Given the description of an element on the screen output the (x, y) to click on. 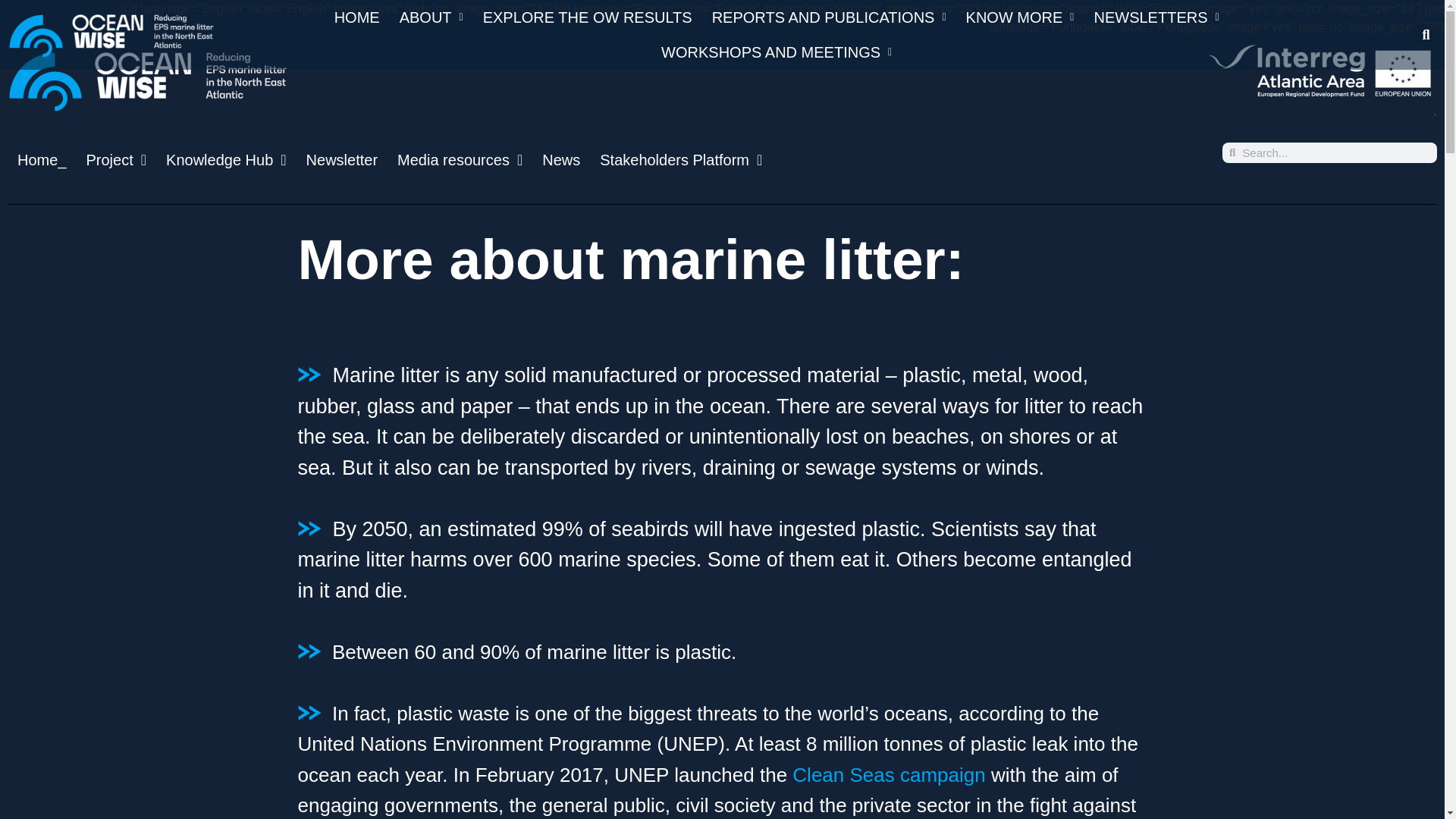
HOME (357, 17)
EXPLORE THE OW RESULTS (587, 17)
WORKSHOPS AND MEETINGS (775, 52)
REPORTS AND PUBLICATIONS (828, 17)
KNOW MORE (1020, 17)
ABOUT (431, 17)
NEWSLETTERS (1155, 17)
